Given the description of an element on the screen output the (x, y) to click on. 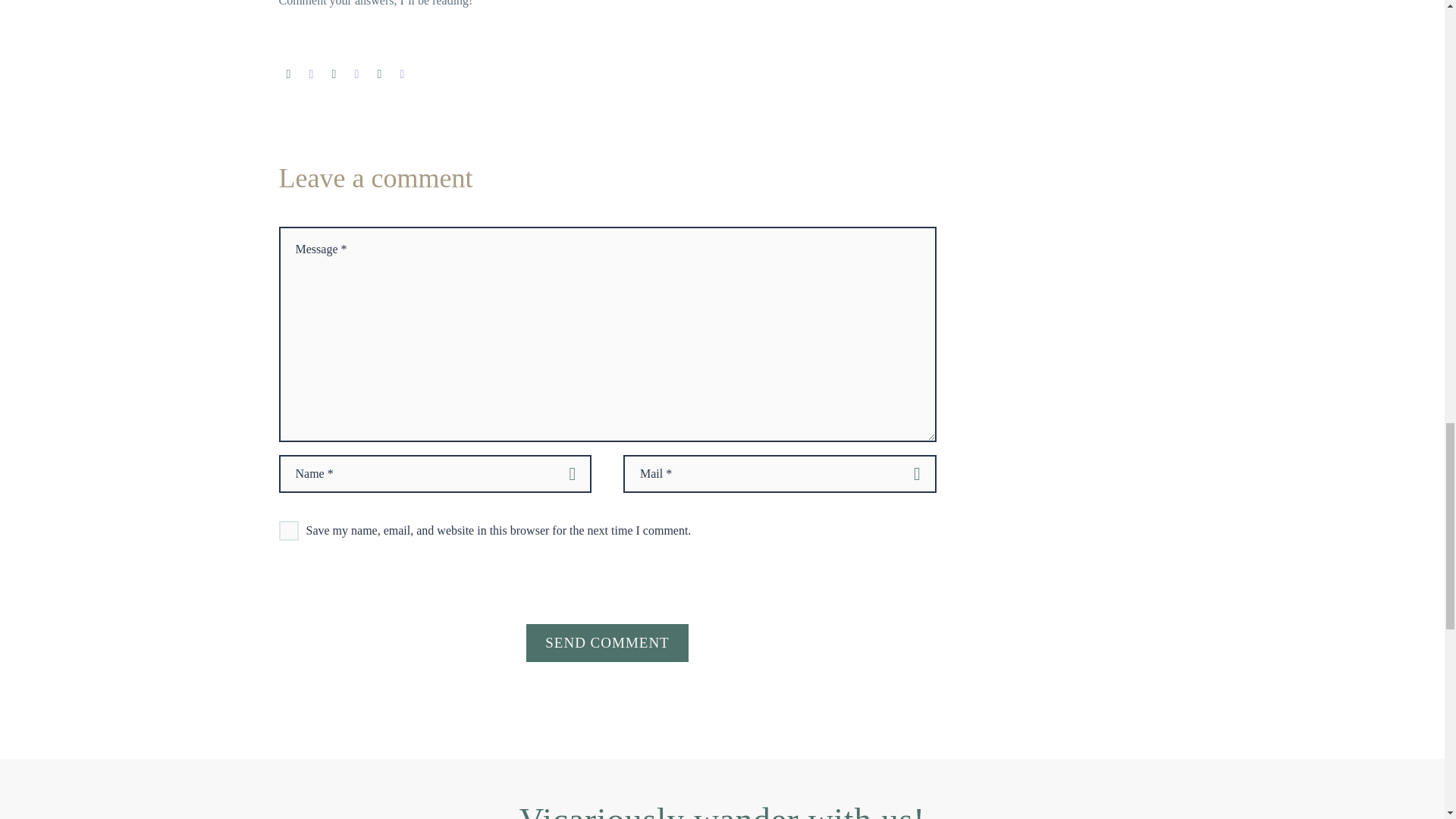
SEND COMMENT (606, 642)
Pinterest (333, 73)
LinkedIn (378, 73)
Reddit (401, 73)
Tumblr (356, 73)
Twitter (310, 73)
Facebook (288, 73)
